Given the description of an element on the screen output the (x, y) to click on. 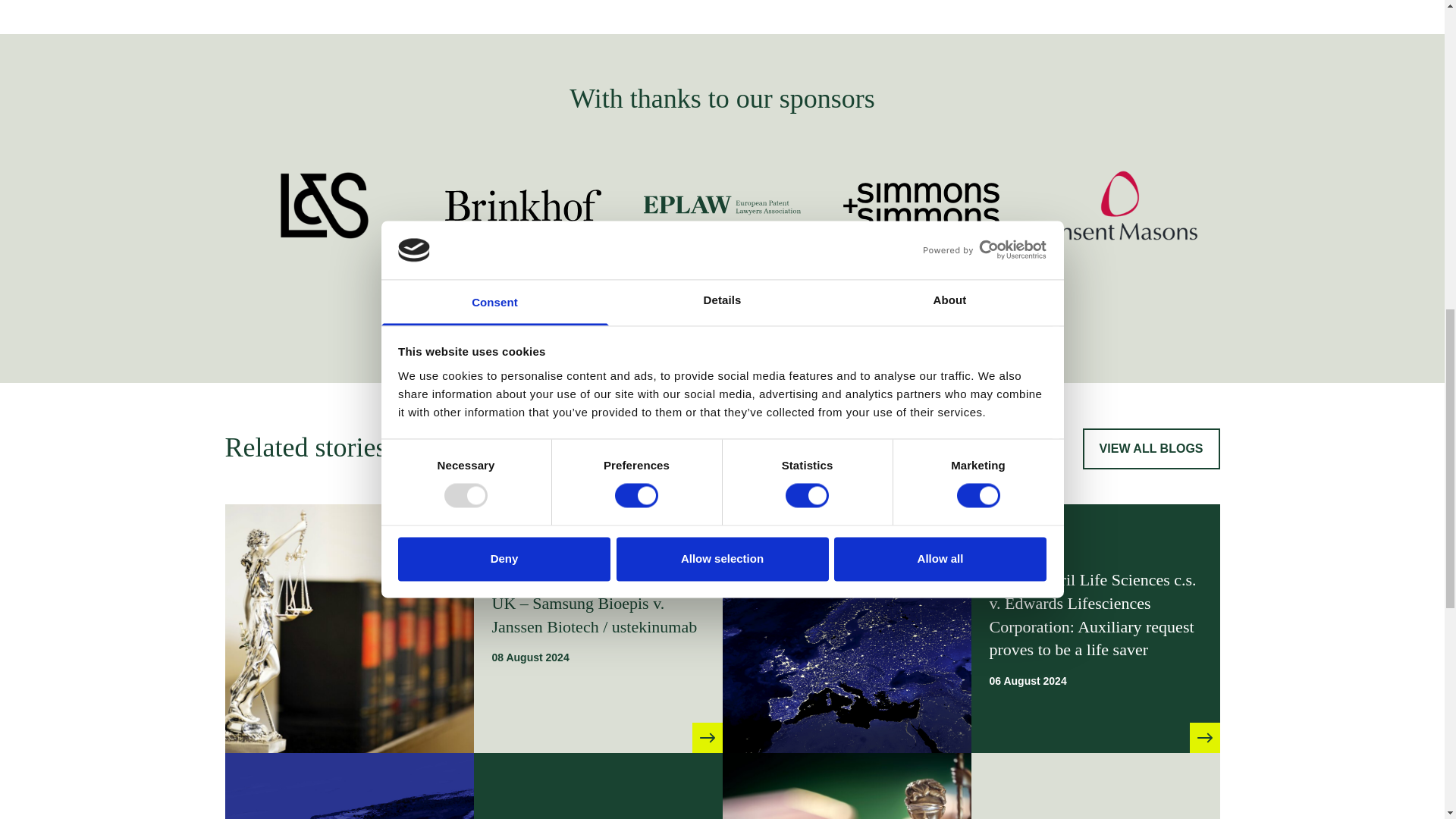
VIEW ALL BLOGS (1151, 448)
Next Slide (802, 323)
Previous Slide (641, 323)
